Given the description of an element on the screen output the (x, y) to click on. 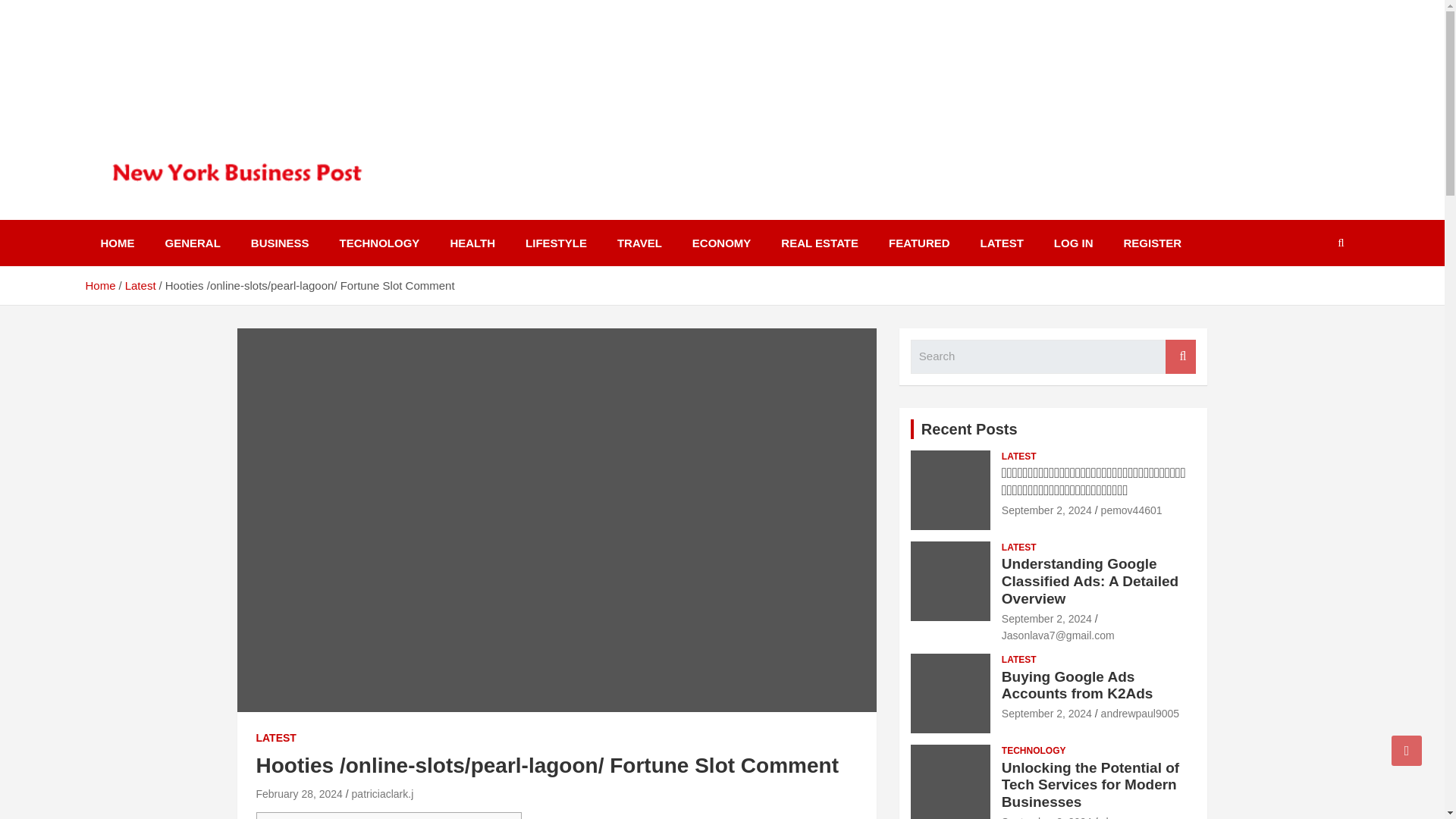
patriciaclark.j (382, 793)
February 28, 2024 (299, 793)
HEALTH (472, 243)
LATEST (1002, 243)
TECHNOLOGY (379, 243)
Understanding Google Classified Ads: A Detailed Overview (1046, 618)
REAL ESTATE (819, 243)
GENERAL (192, 243)
FEATURED (919, 243)
